Given the description of an element on the screen output the (x, y) to click on. 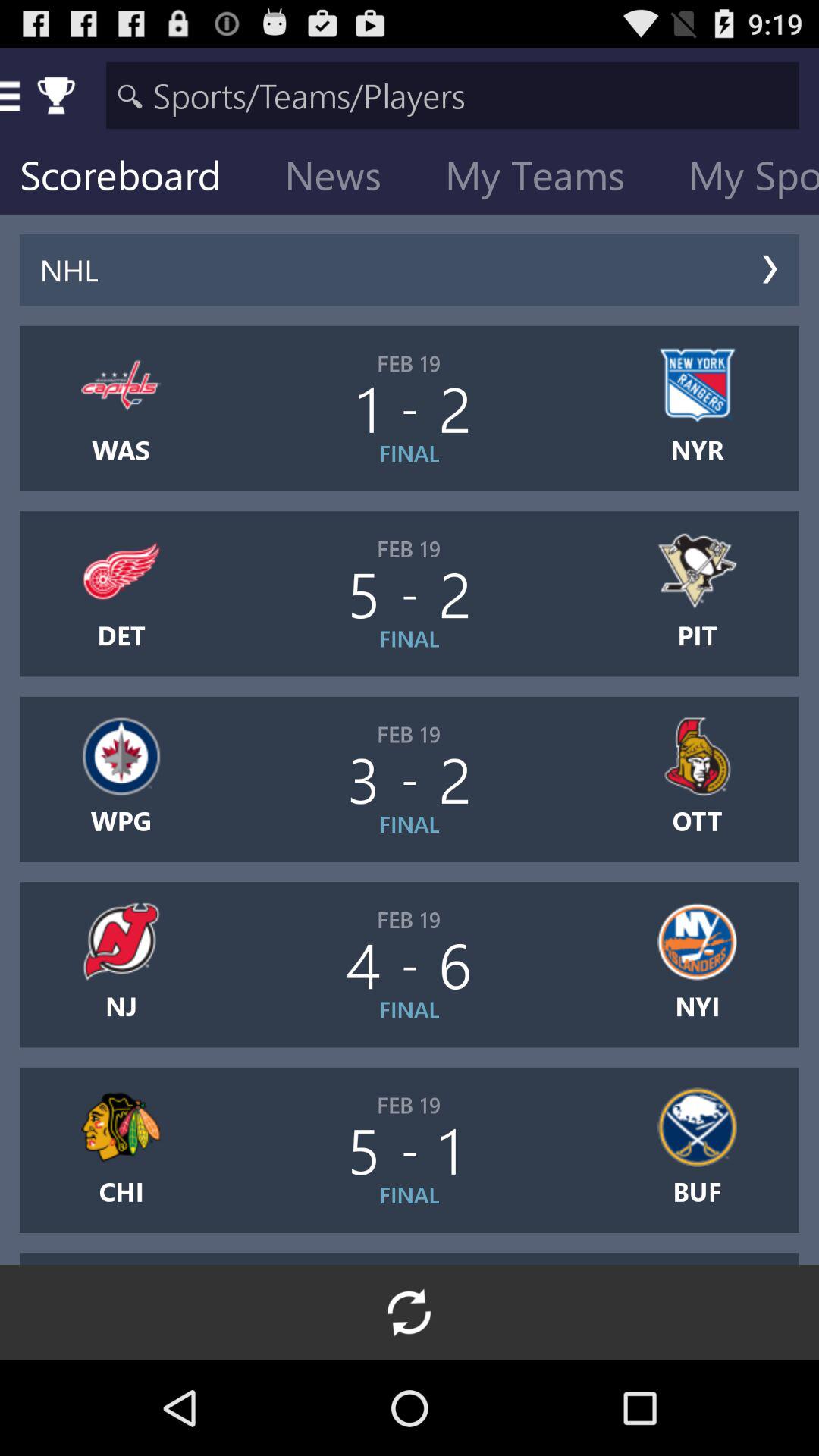
choose the item below chi item (409, 1312)
